Given the description of an element on the screen output the (x, y) to click on. 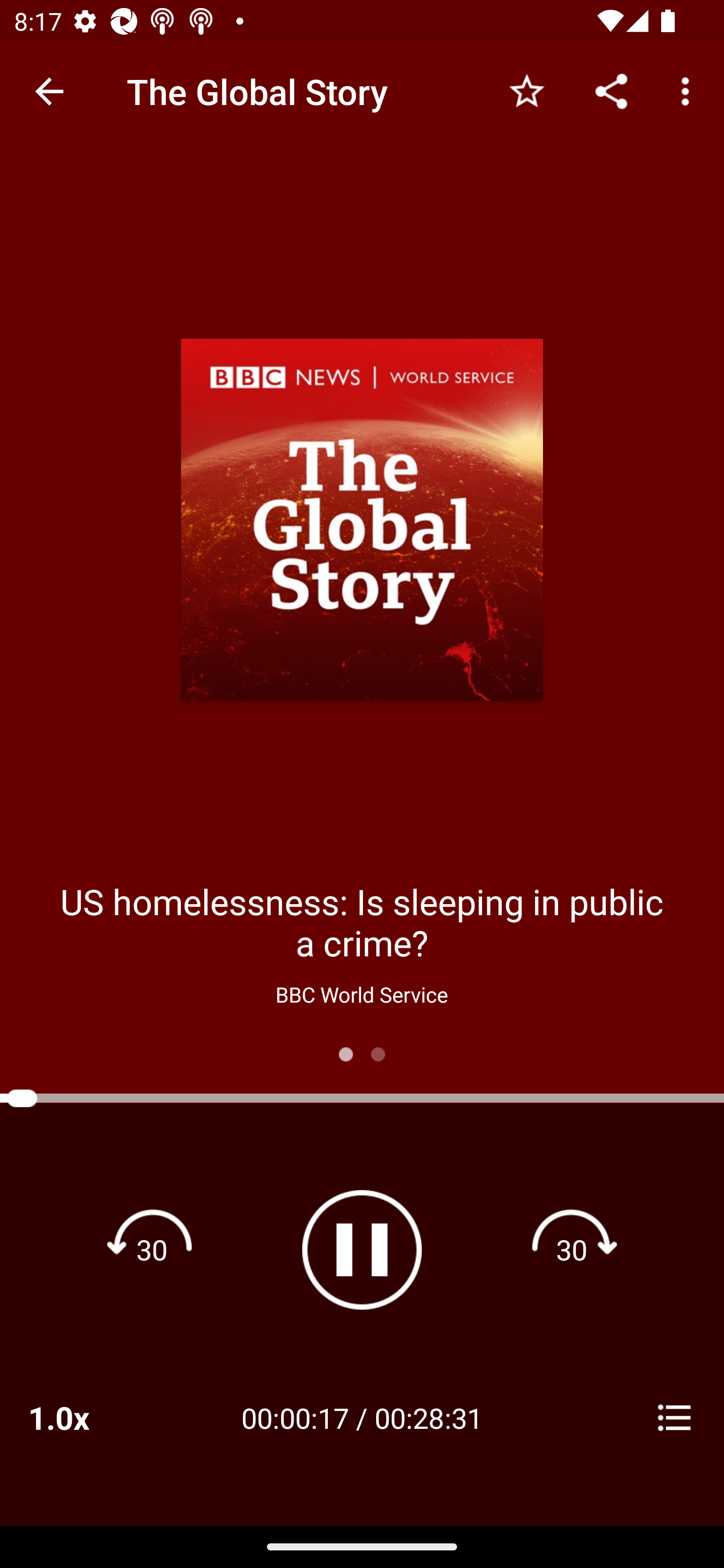
Navigate up (49, 91)
Add to Favorites (526, 90)
Share... (611, 90)
More options (688, 90)
BBC World Service (361, 994)
Pause (361, 1249)
Rewind (151, 1249)
Fast forward (571, 1249)
1.0x Playback Speeds (84, 1417)
00:28:31 (428, 1417)
